Given the description of an element on the screen output the (x, y) to click on. 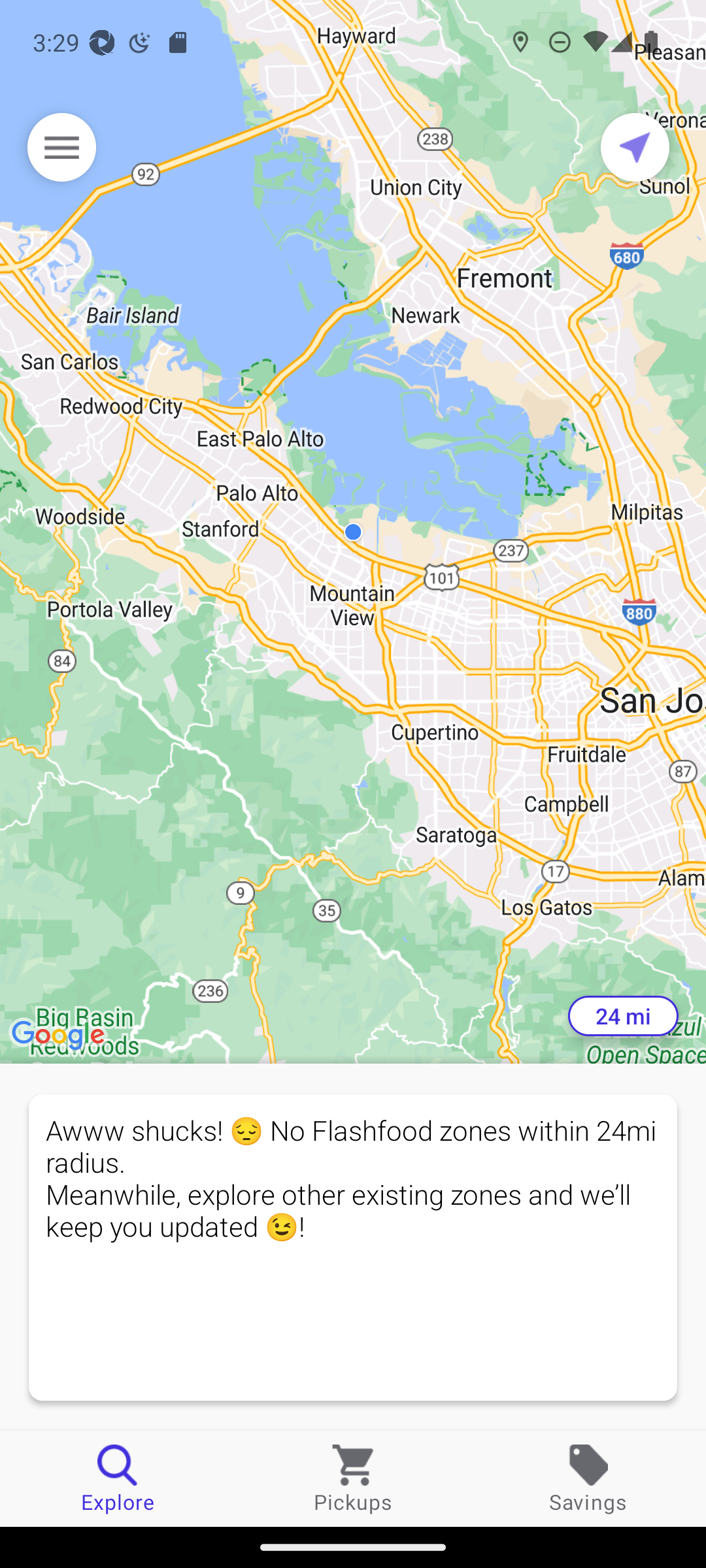
Menu (61, 146)
Current location (634, 146)
24 mi (623, 1015)
Pickups (352, 1478)
Savings (588, 1478)
